Given the description of an element on the screen output the (x, y) to click on. 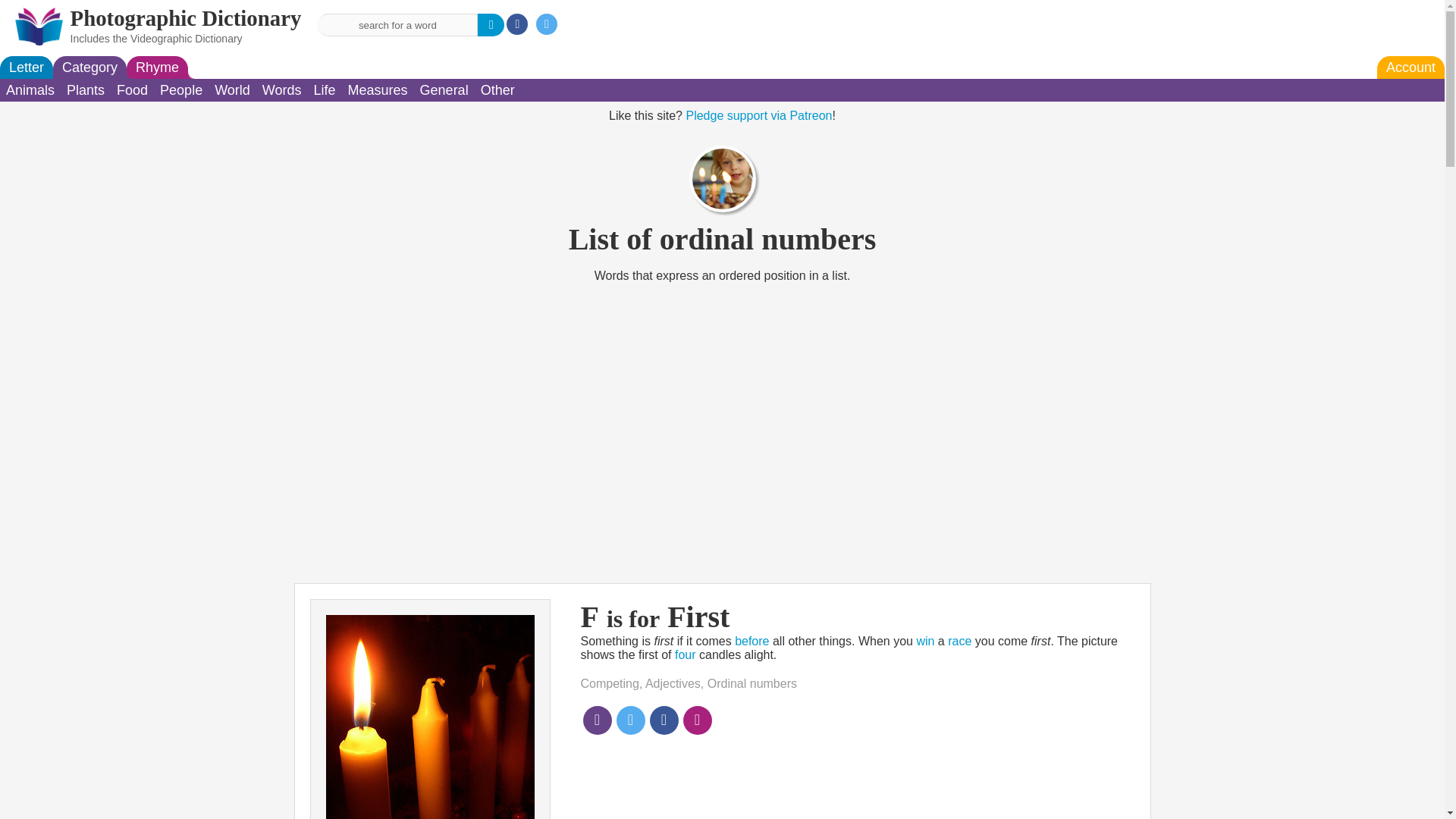
Photographic Dictionary (185, 17)
search for a word (397, 24)
Rhyme (156, 67)
Home (38, 27)
Home (185, 17)
Animals (30, 89)
Category (89, 67)
Plants (85, 89)
Food (132, 89)
Videographic Dictionary (187, 38)
